Given the description of an element on the screen output the (x, y) to click on. 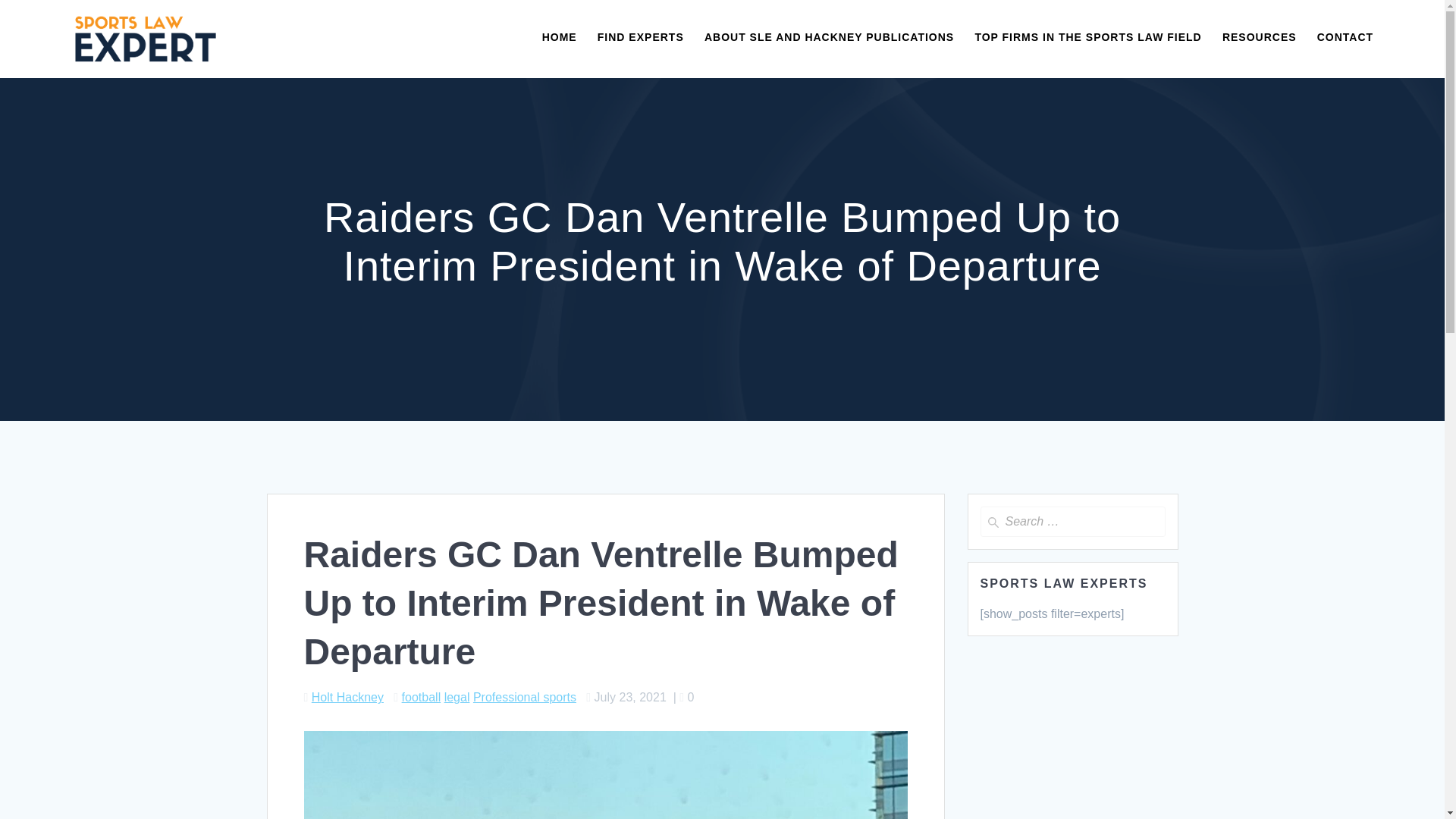
ABOUT SLE AND HACKNEY PUBLICATIONS (828, 37)
FIND EXPERTS (640, 37)
Holt Hackney (347, 697)
RESOURCES (1260, 37)
TOP FIRMS IN THE SPORTS LAW FIELD (1087, 37)
Posts by Holt Hackney (347, 697)
Professional sports (524, 697)
legal (457, 697)
HOME (558, 37)
CONTACT (1345, 37)
